Given the description of an element on the screen output the (x, y) to click on. 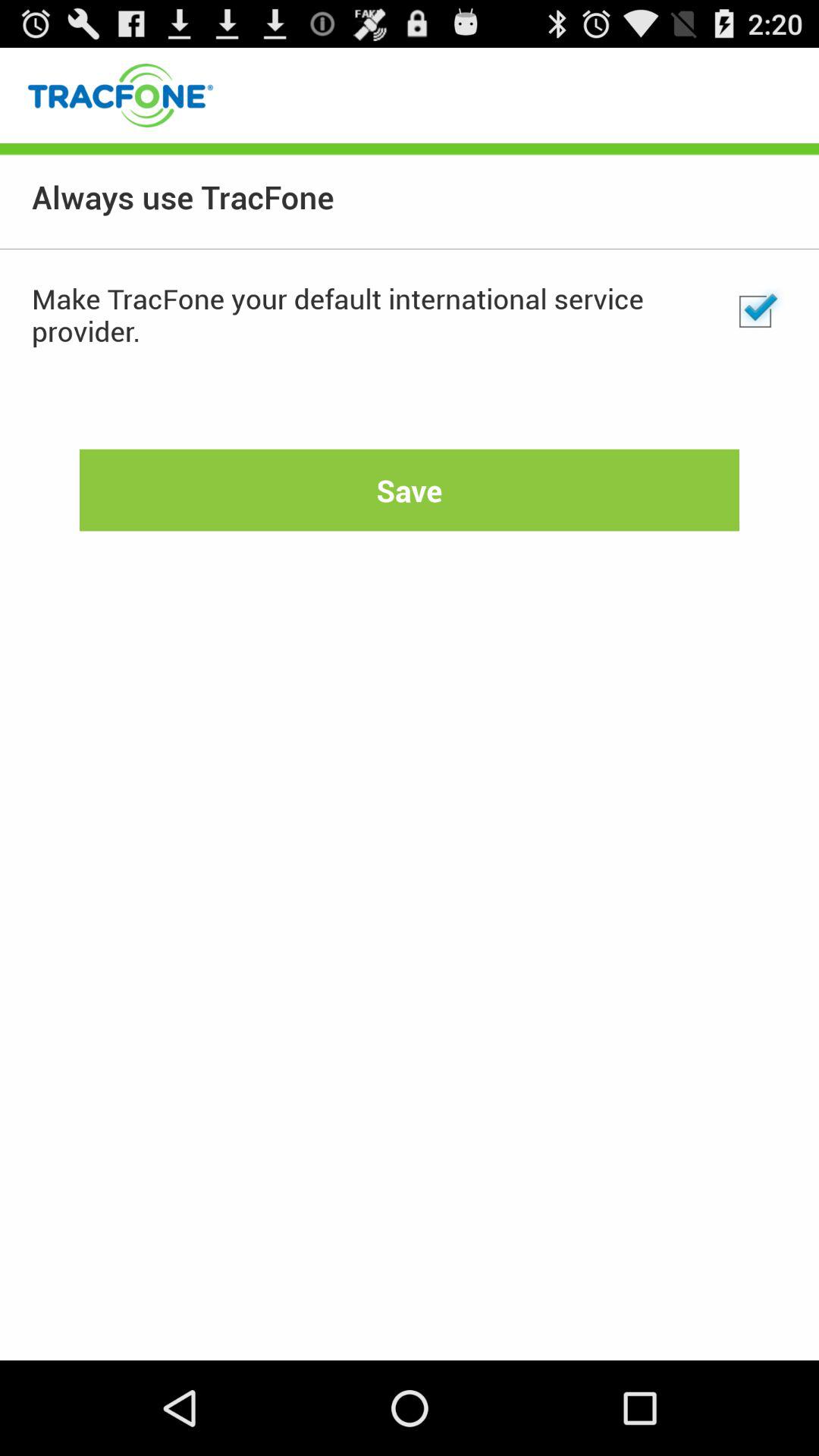
turn off item at the top right corner (755, 311)
